Given the description of an element on the screen output the (x, y) to click on. 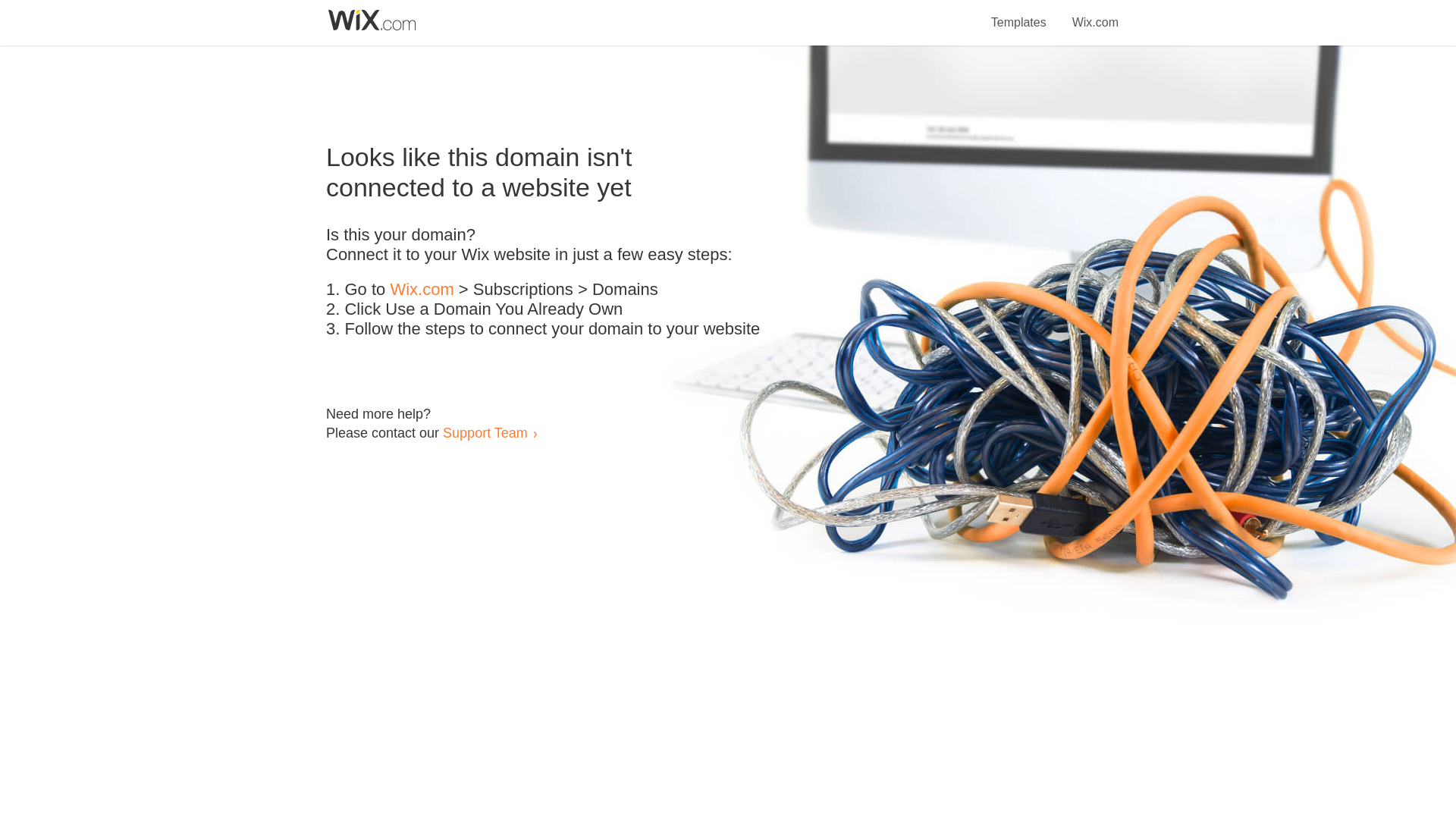
Wix.com (421, 289)
Wix.com (1095, 14)
Templates (1018, 14)
Support Team (484, 432)
